Given the description of an element on the screen output the (x, y) to click on. 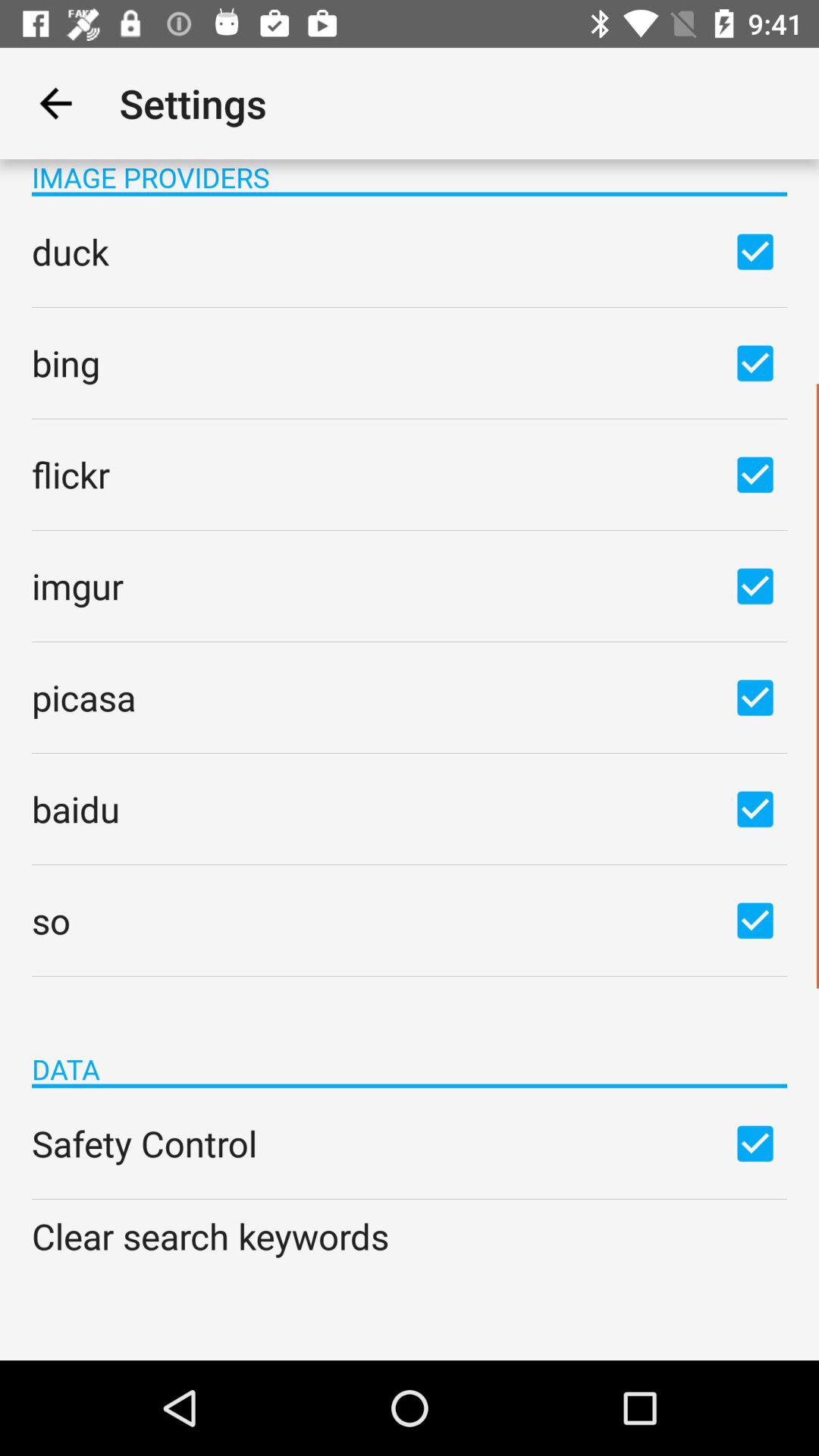
check or uncheck box (755, 251)
